Given the description of an element on the screen output the (x, y) to click on. 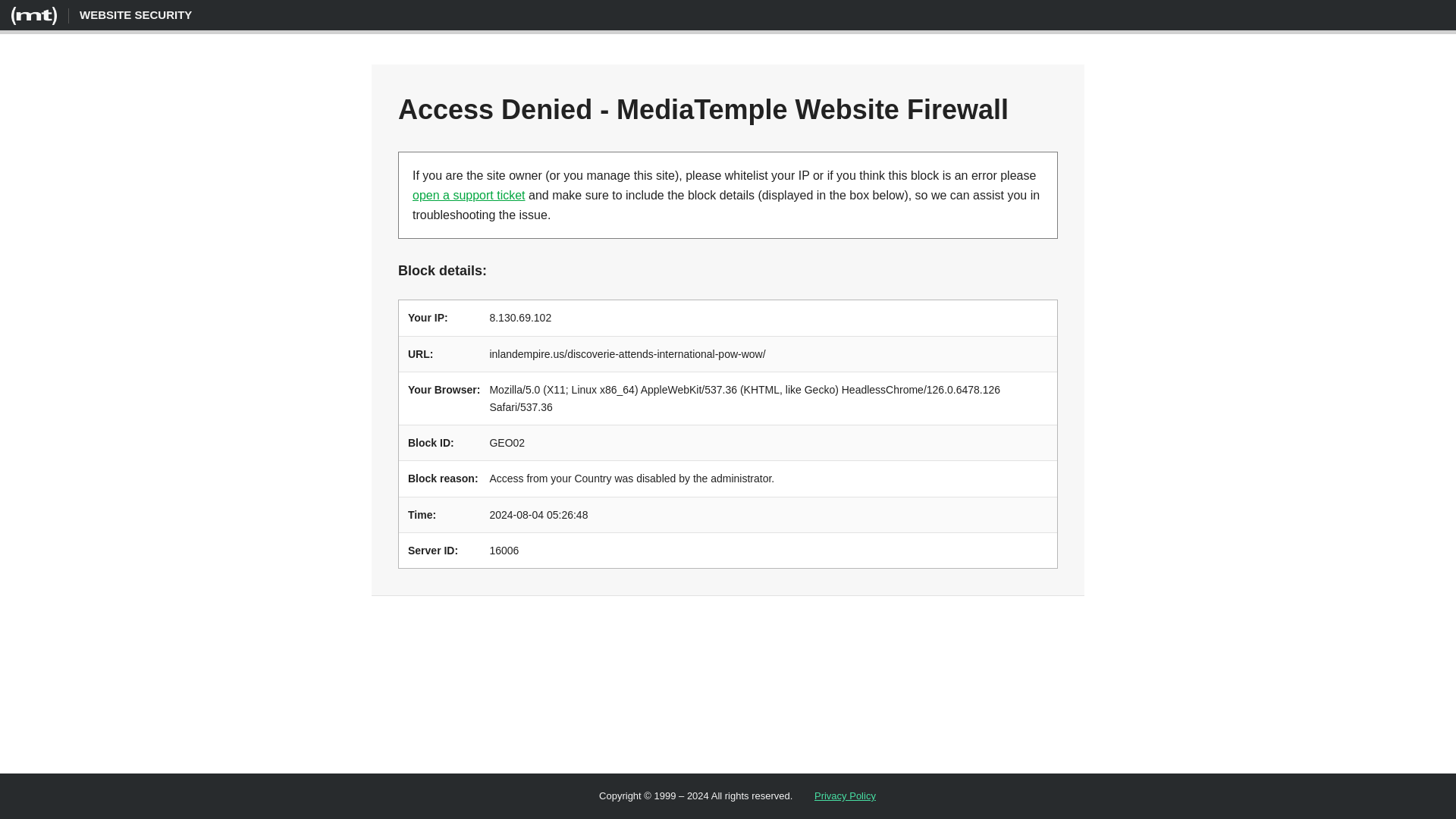
Privacy Policy (844, 795)
open a support ticket (468, 195)
